Given the description of an element on the screen output the (x, y) to click on. 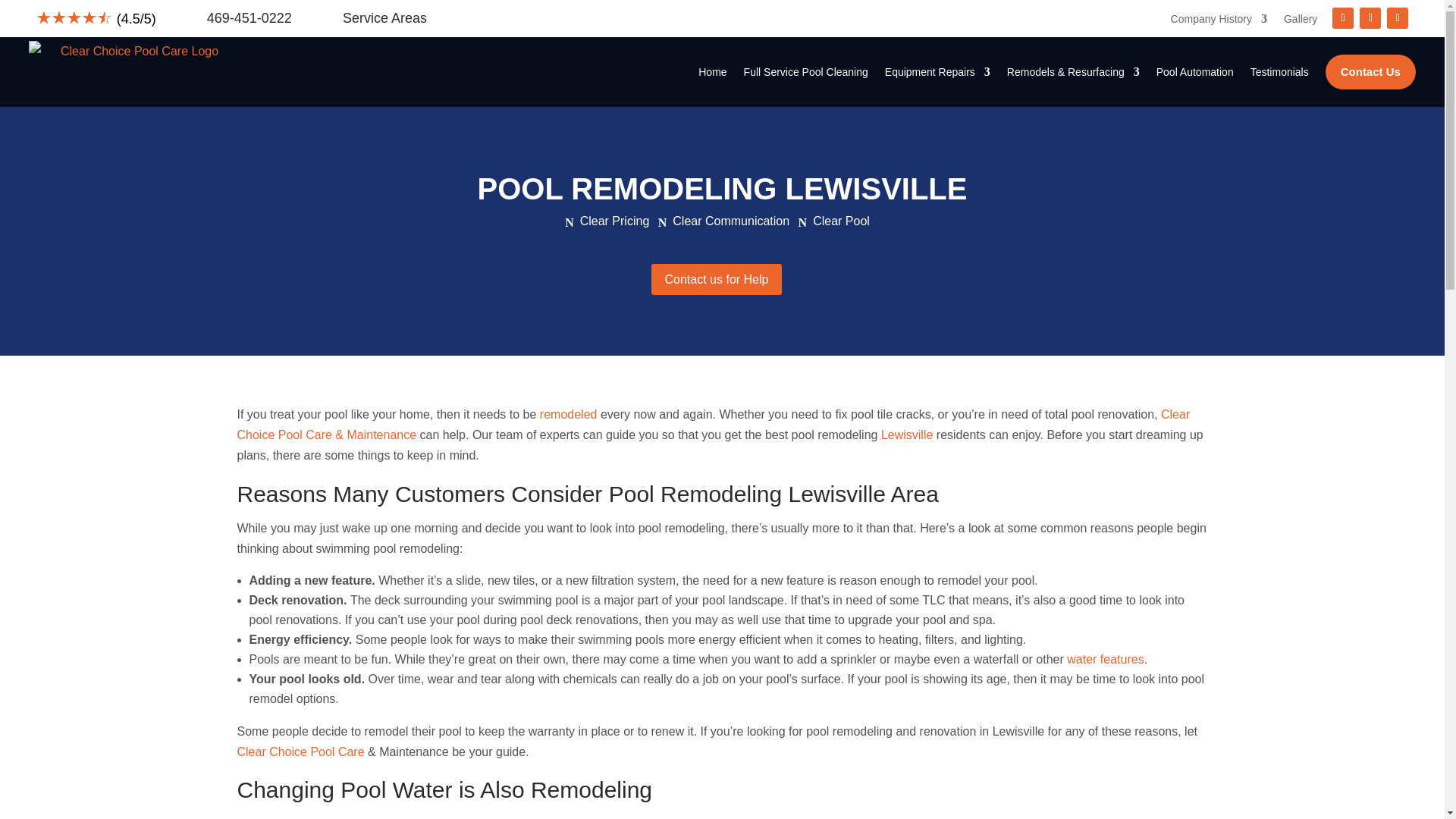
Pool Automation (1194, 71)
Contact us for Help (716, 278)
Equipment Repairs (937, 71)
remodeled (568, 413)
Company History (1218, 21)
Full Service Pool Cleaning (805, 71)
water features (1104, 658)
Contact Us (1369, 71)
Clear Choice Pool Care (299, 751)
Follow on Facebook (1343, 17)
